Given the description of an element on the screen output the (x, y) to click on. 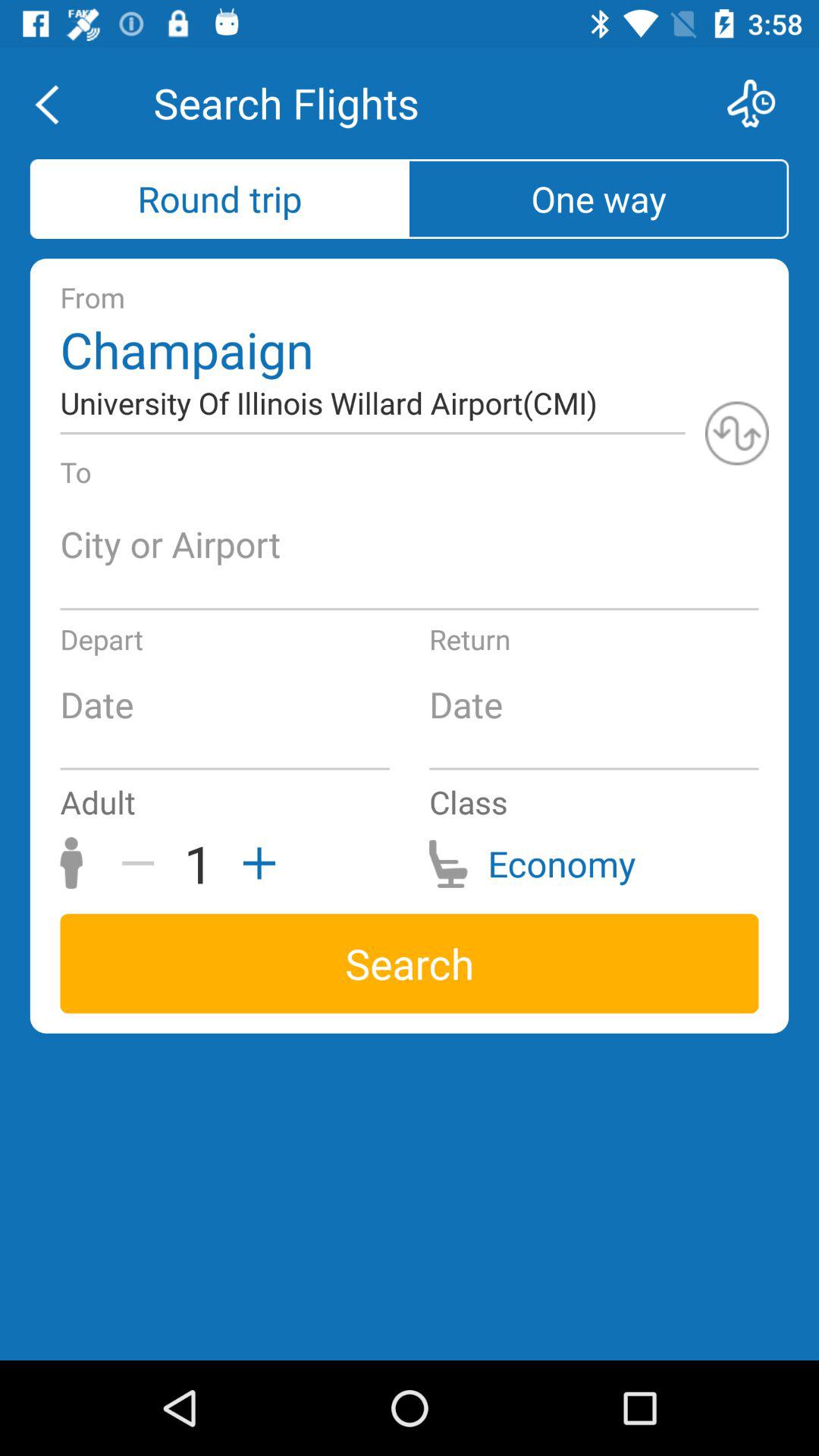
press the item to the left of class (254, 863)
